Given the description of an element on the screen output the (x, y) to click on. 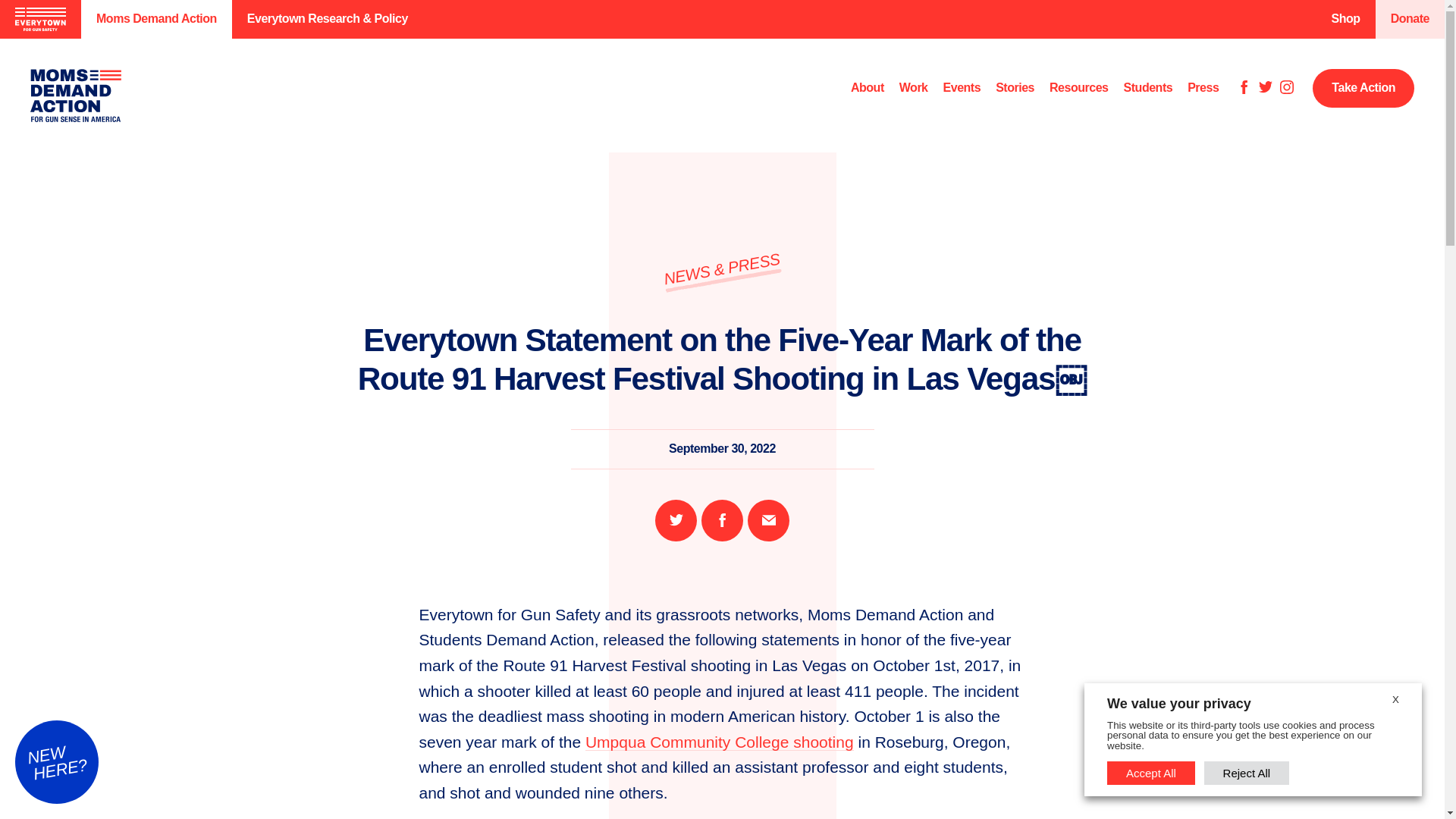
Follow us on Twitter (1265, 88)
Moms Demand Action (156, 19)
Stories (1014, 88)
Follow us on Instagram (1286, 88)
Resources (1078, 88)
Events (962, 88)
Students (1148, 88)
Work (913, 88)
About (866, 88)
Press (1203, 88)
Shop (1345, 19)
Take Action (1363, 87)
Follow us on Facebook (1244, 88)
